Given the description of an element on the screen output the (x, y) to click on. 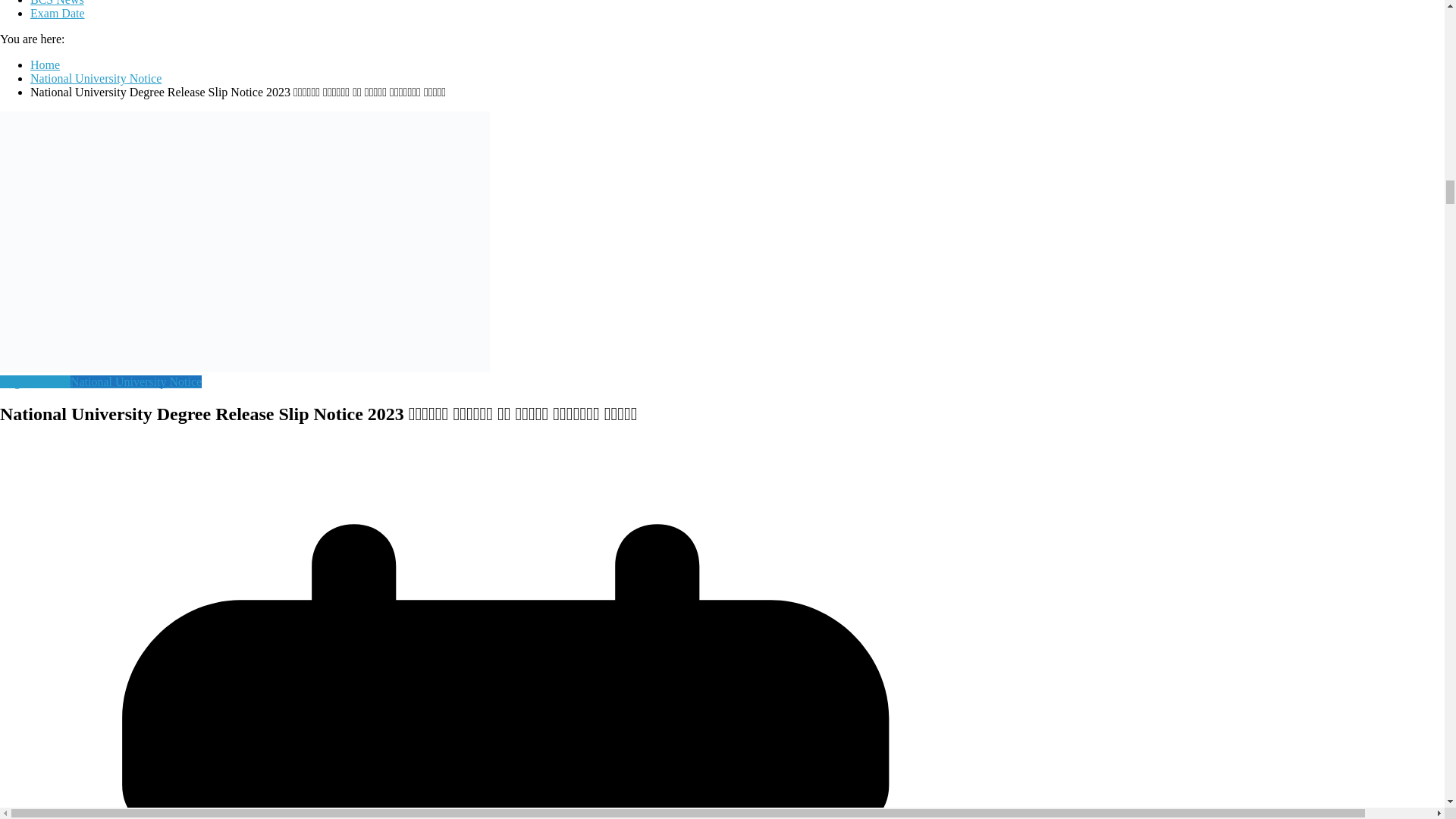
Degree Notice (34, 381)
National University Notice (135, 381)
Home (44, 64)
BCS News (57, 2)
Exam Date (57, 12)
National University Notice (95, 78)
